Given the description of an element on the screen output the (x, y) to click on. 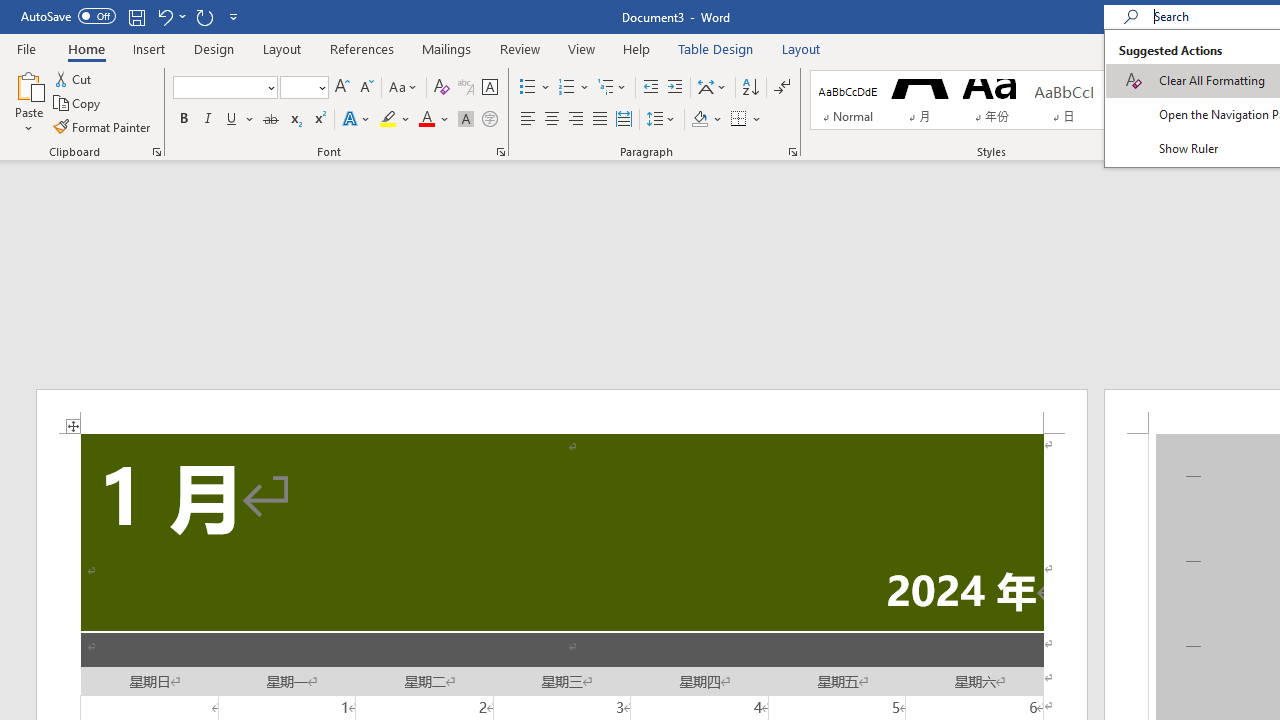
Superscript (319, 119)
AutomationID: QuickStylesGallery (999, 99)
Cut (73, 78)
View (582, 48)
System (10, 11)
Class: NetUIImage (1181, 119)
Shading (706, 119)
Numbering (566, 87)
System (10, 11)
Change Case (404, 87)
Underline (239, 119)
Font (224, 87)
Undo Apply Quick Style (164, 15)
Text Effects and Typography (357, 119)
